Given the description of an element on the screen output the (x, y) to click on. 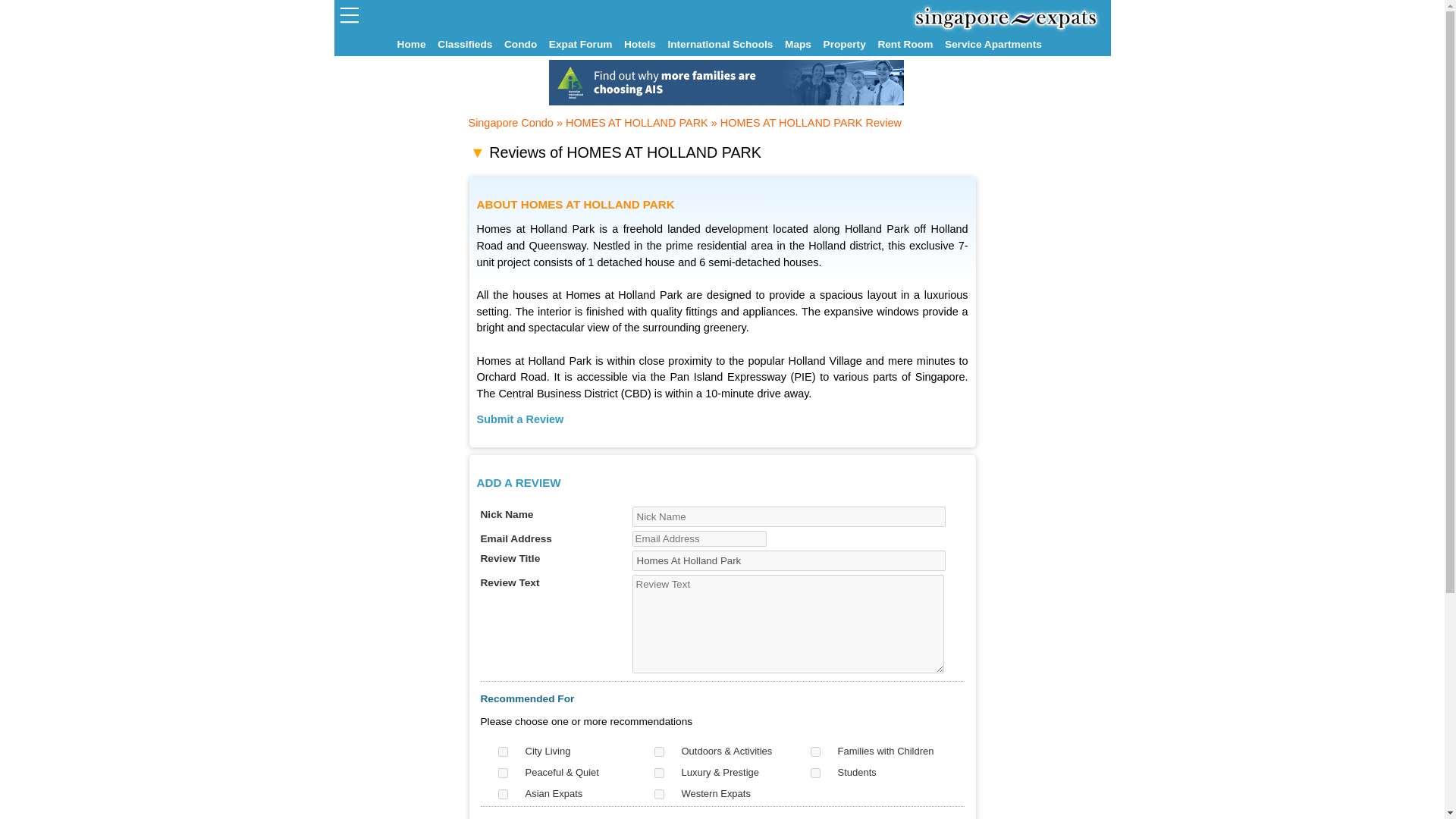
Singapore Hotel Booking (642, 43)
8 (658, 794)
Submit a Review (519, 419)
Please enter your online Nick Name (788, 516)
Please enter your Review Text (787, 623)
1 (501, 751)
International Schools (722, 43)
Singapore Classified Ads (467, 43)
3rd party ad content (726, 82)
2 (658, 751)
